Given the description of an element on the screen output the (x, y) to click on. 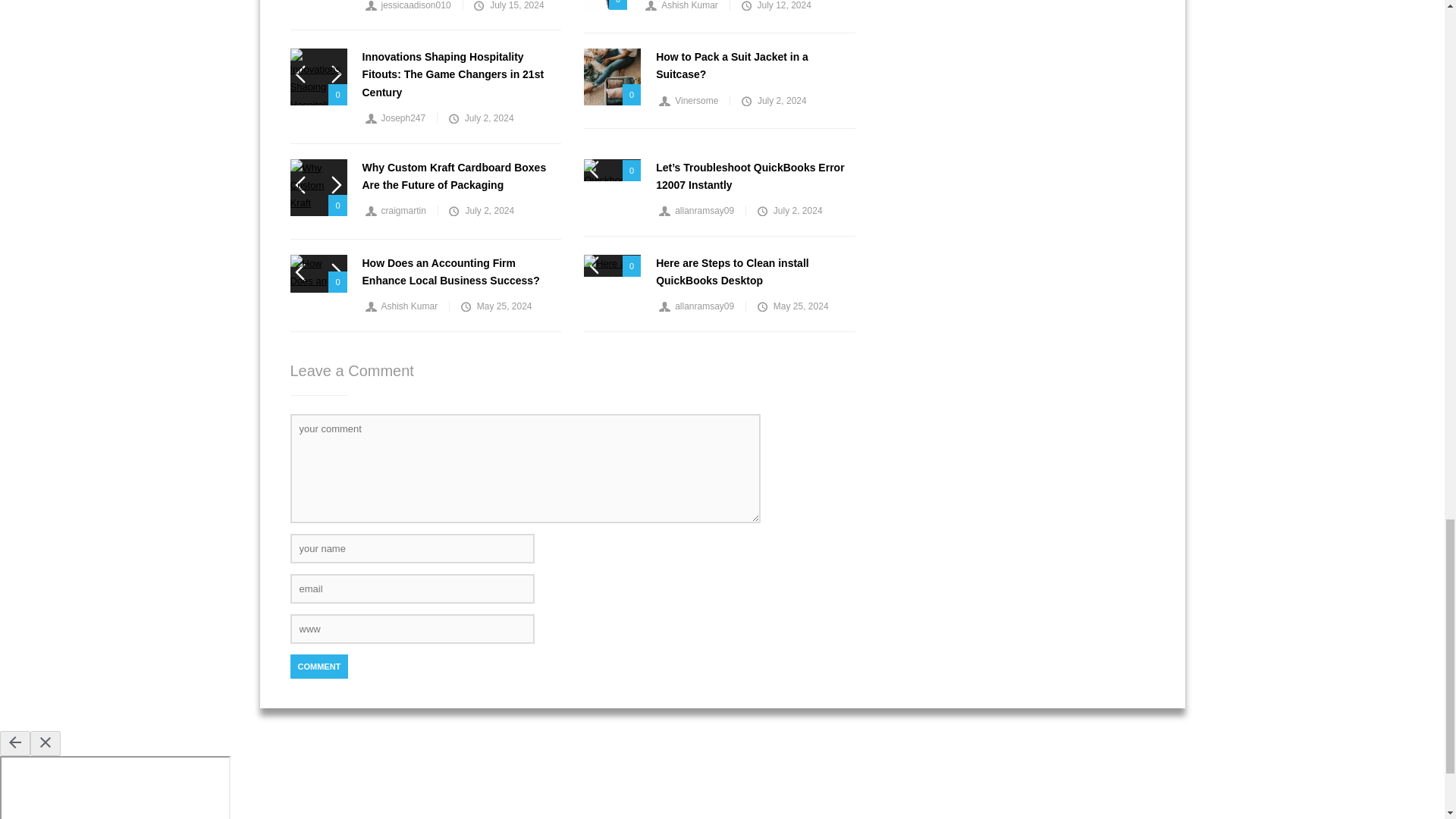
Comment (318, 666)
